Given the description of an element on the screen output the (x, y) to click on. 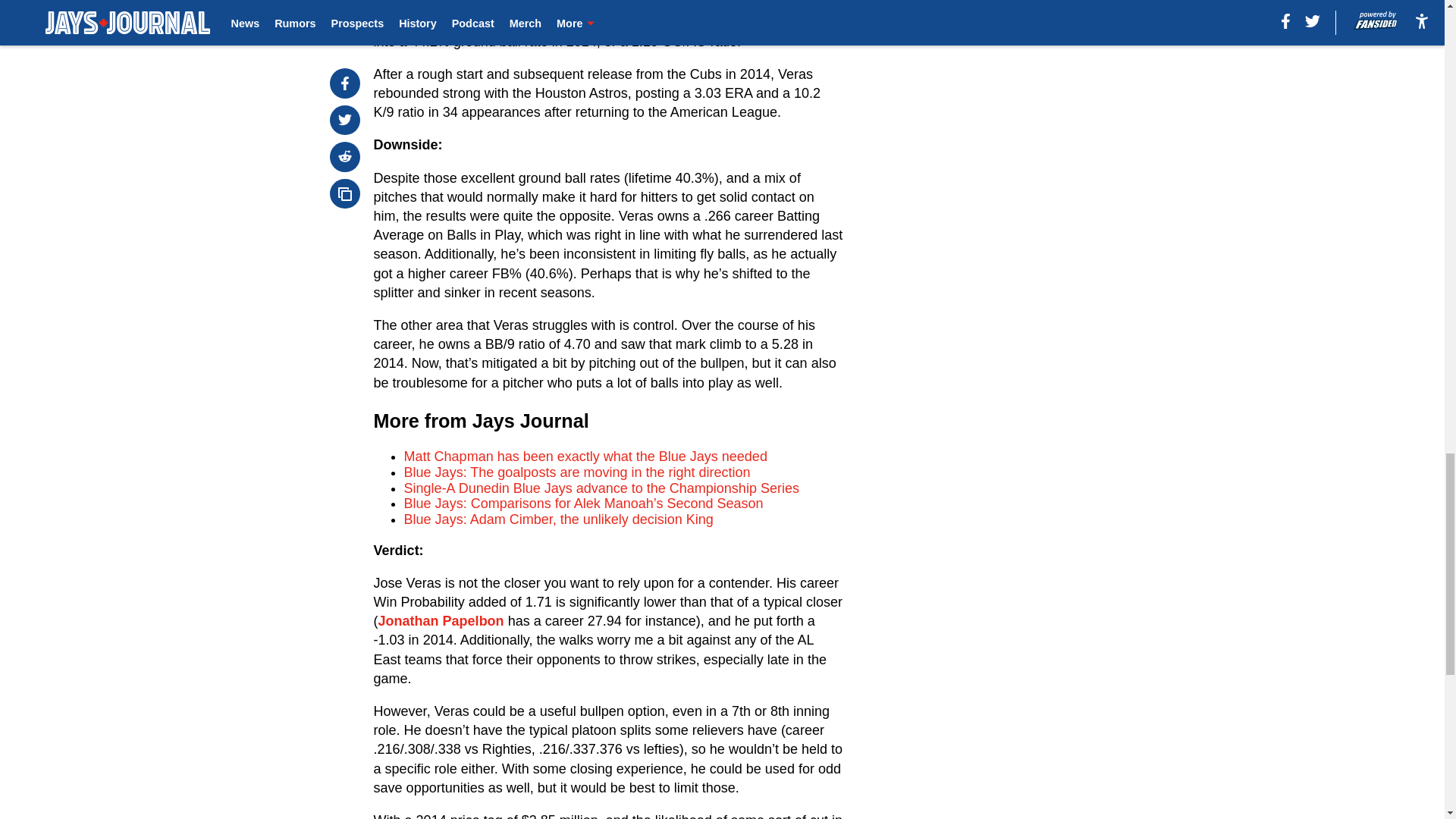
Blue Jays: The goalposts are moving in the right direction (577, 472)
Jonathan Papelbon (440, 620)
Matt Chapman has been exactly what the Blue Jays needed (585, 456)
Blue Jays: Adam Cimber, the unlikely decision King (558, 519)
